Given the description of an element on the screen output the (x, y) to click on. 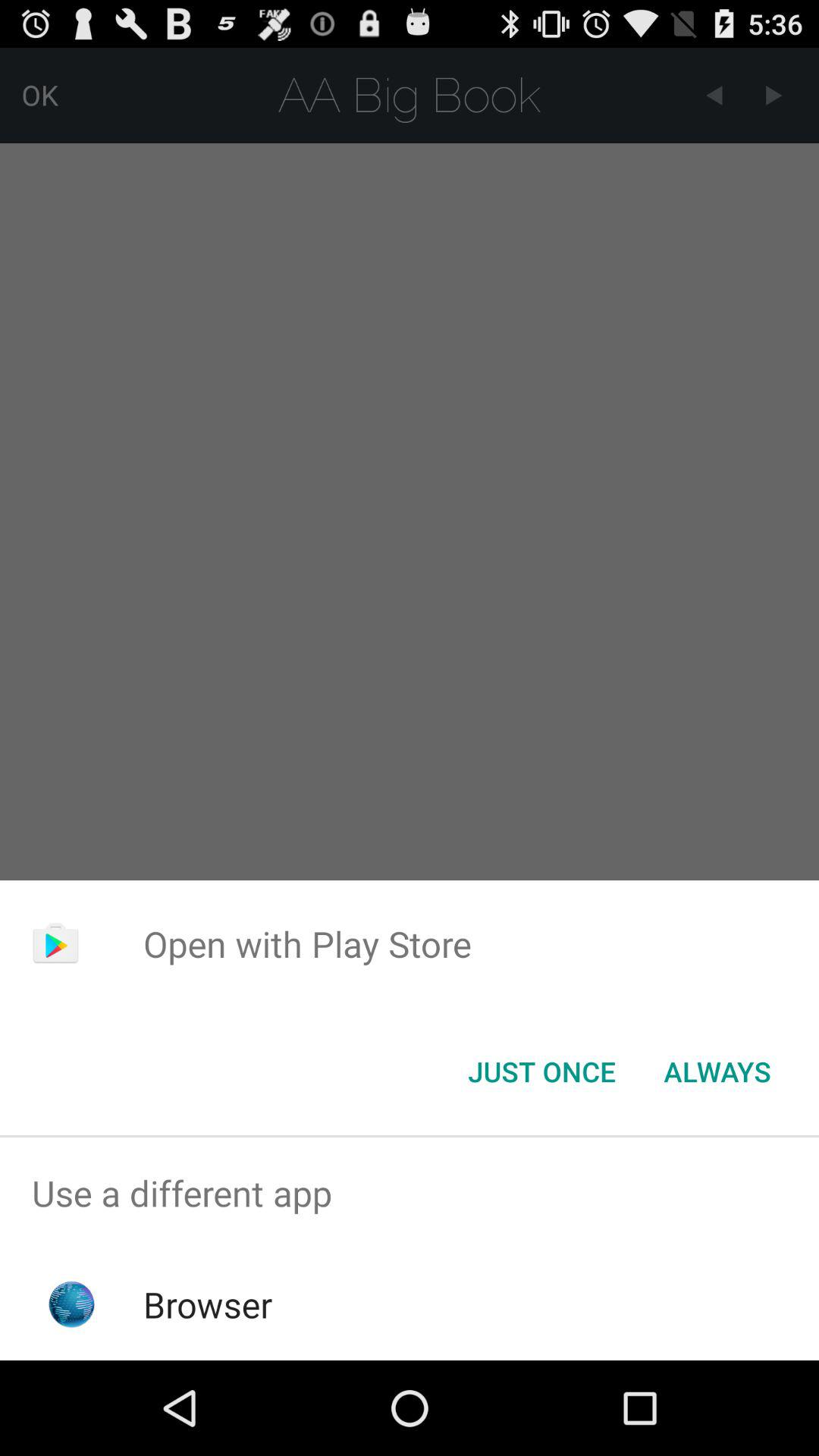
turn off the icon above the browser app (409, 1192)
